Given the description of an element on the screen output the (x, y) to click on. 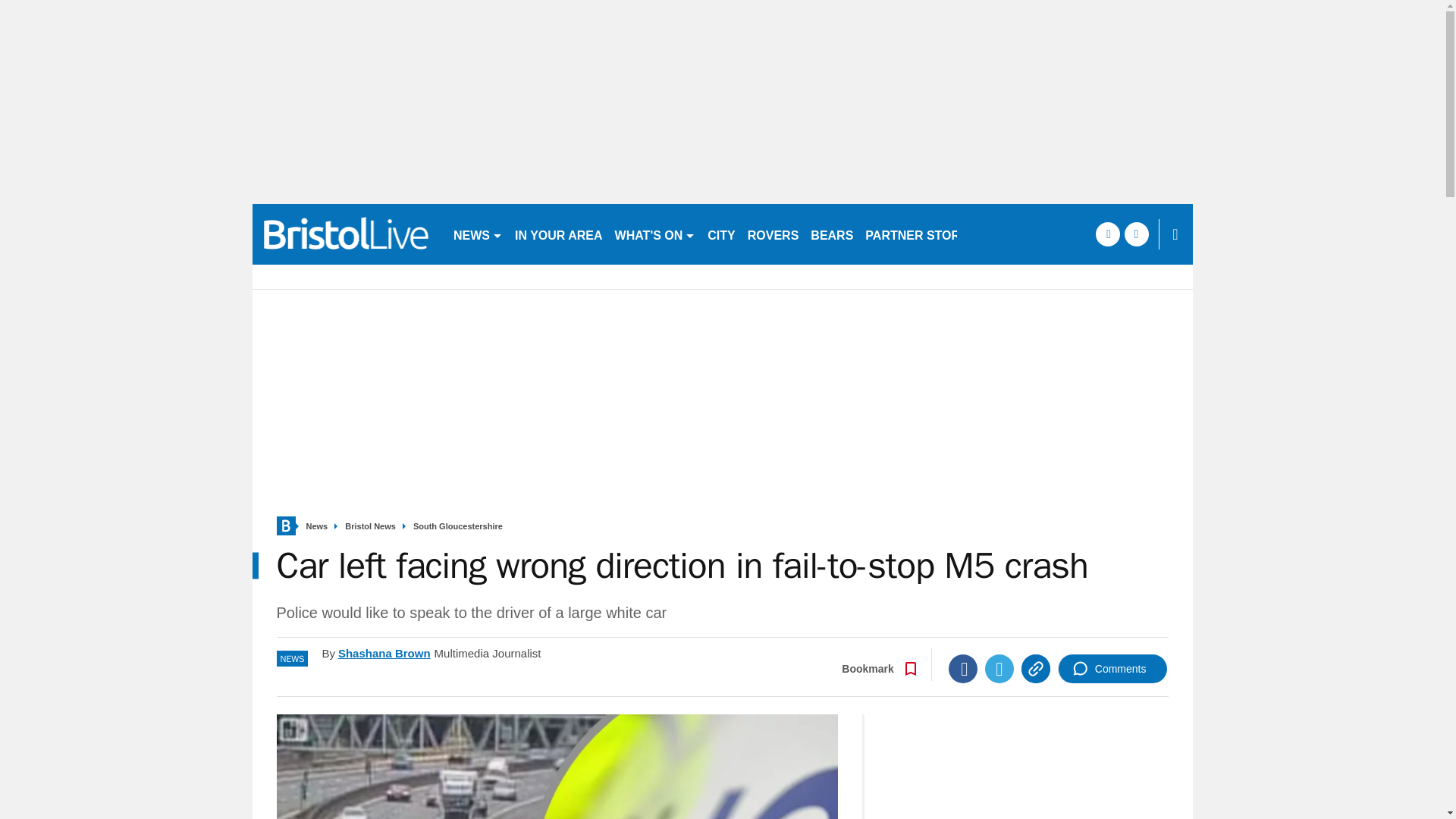
BEARS (832, 233)
NEWS (477, 233)
Twitter (999, 668)
IN YOUR AREA (558, 233)
twitter (1136, 233)
PARTNER STORIES (922, 233)
WHAT'S ON (654, 233)
Comments (1112, 668)
ROVERS (773, 233)
Facebook (962, 668)
